Given the description of an element on the screen output the (x, y) to click on. 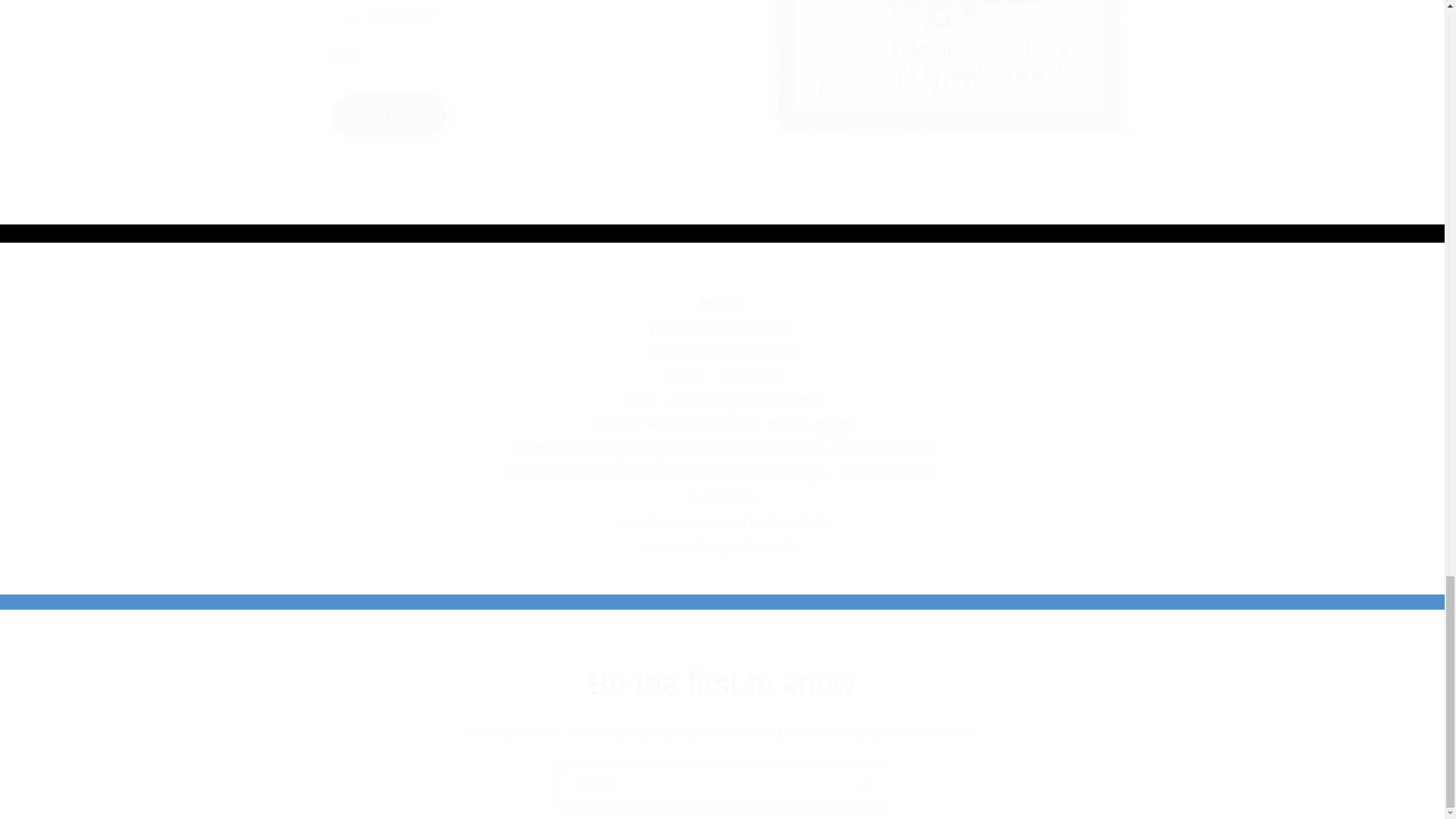
Be the first to know (721, 683)
Email (721, 785)
